Given the description of an element on the screen output the (x, y) to click on. 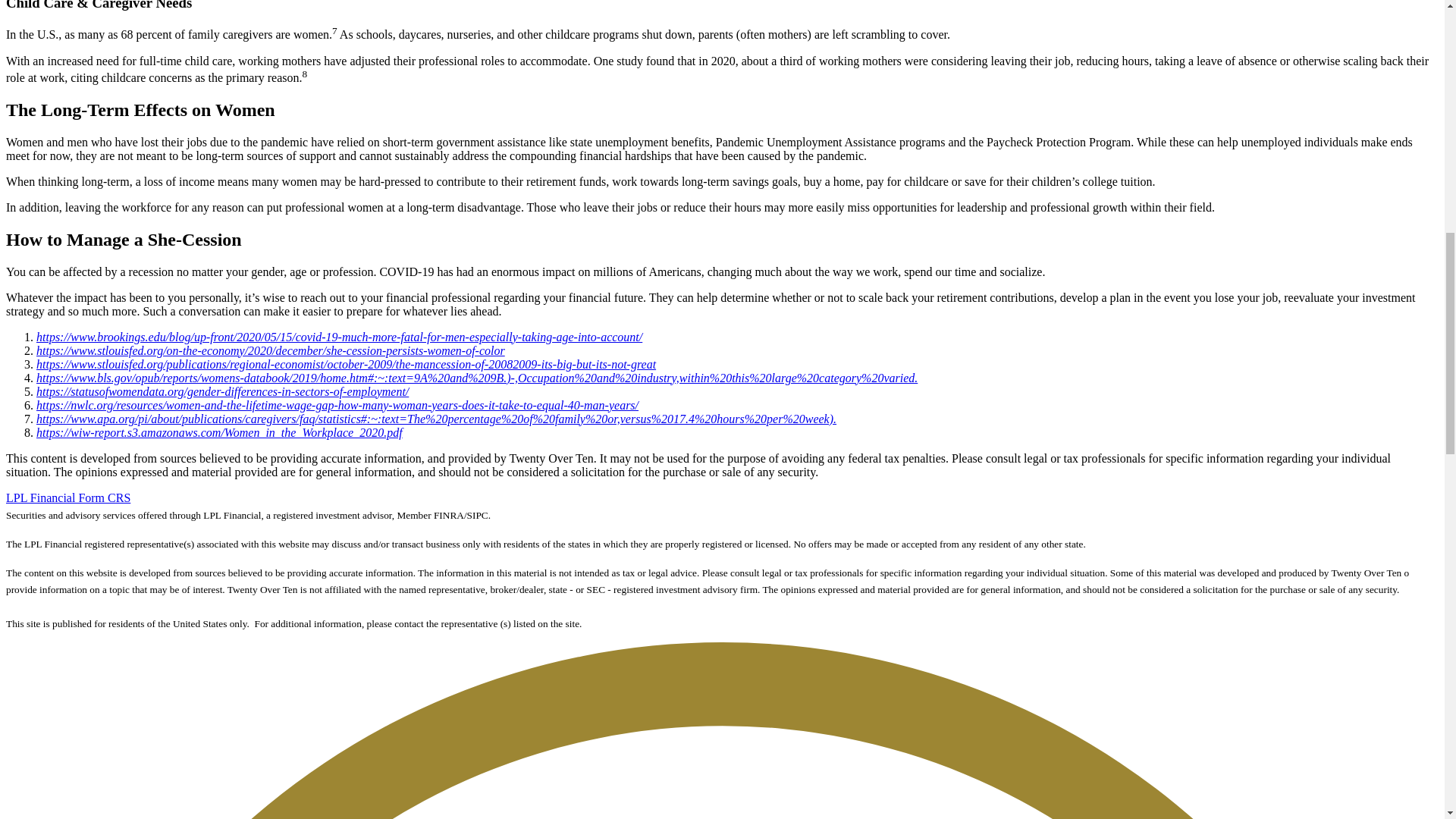
LPL Financial Form CRS (68, 497)
